Given the description of an element on the screen output the (x, y) to click on. 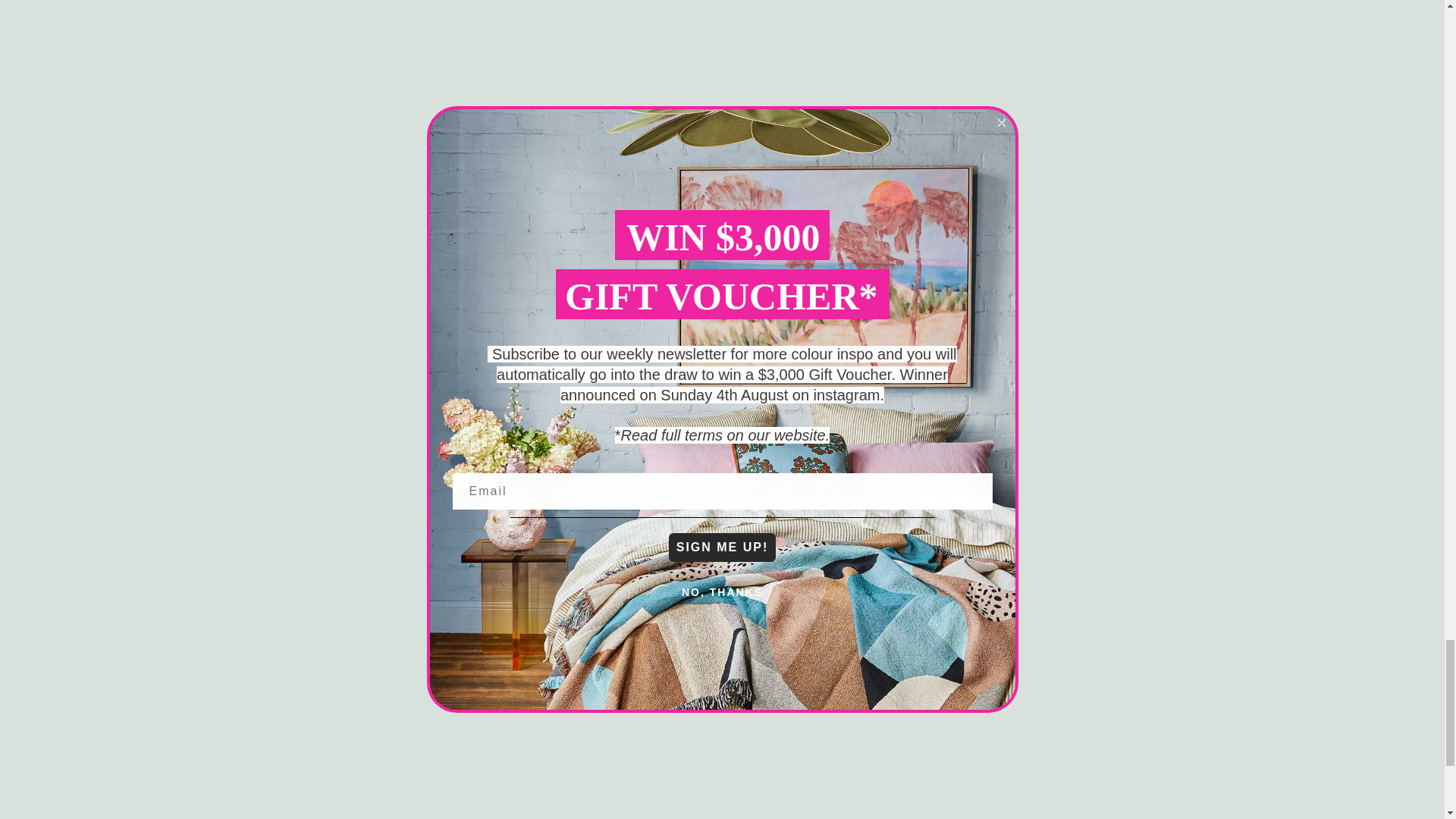
Greenhouse Interiors (418, 790)
